Given the description of an element on the screen output the (x, y) to click on. 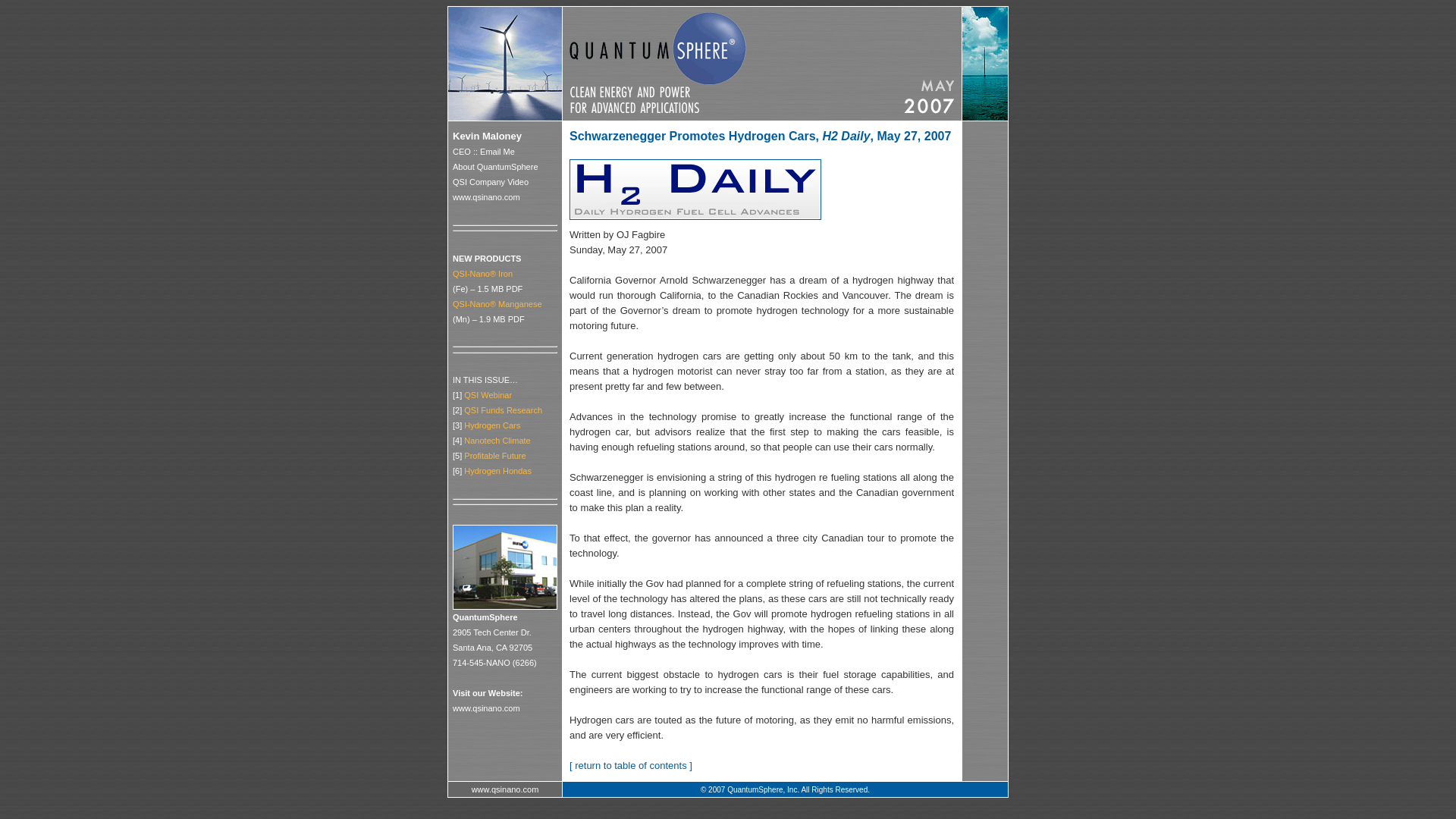
www.qsinano.com (485, 196)
www.qsinano.com (504, 788)
Hydrogen Hondas (497, 470)
About QuantumSphere (495, 166)
Profitable Future (494, 455)
QSI Funds Research (502, 409)
Nanotech Climate (496, 440)
www.qsinano.com (485, 707)
Hydrogen Cars (491, 424)
QSI Company Video (490, 181)
Email Me (497, 151)
QSI Webinar (488, 394)
